Given the description of an element on the screen output the (x, y) to click on. 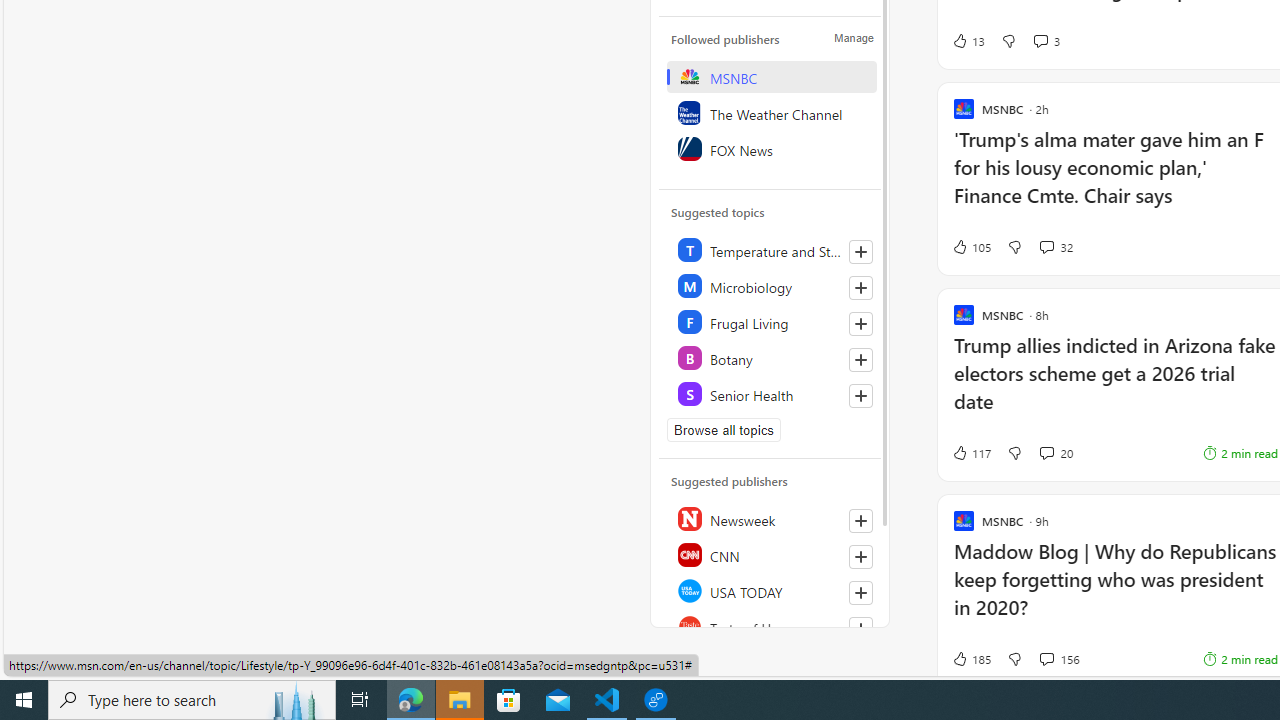
View comments 32 Comment (1046, 246)
Class: highlight (771, 393)
Newsweek (771, 518)
The Weather Channel (771, 112)
CNN (771, 554)
117 Like (970, 452)
MSNBC (771, 76)
View comments 3 Comment (1045, 40)
View comments 32 Comment (1055, 246)
Taste of Home (771, 626)
FOX News (771, 148)
